Given the description of an element on the screen output the (x, y) to click on. 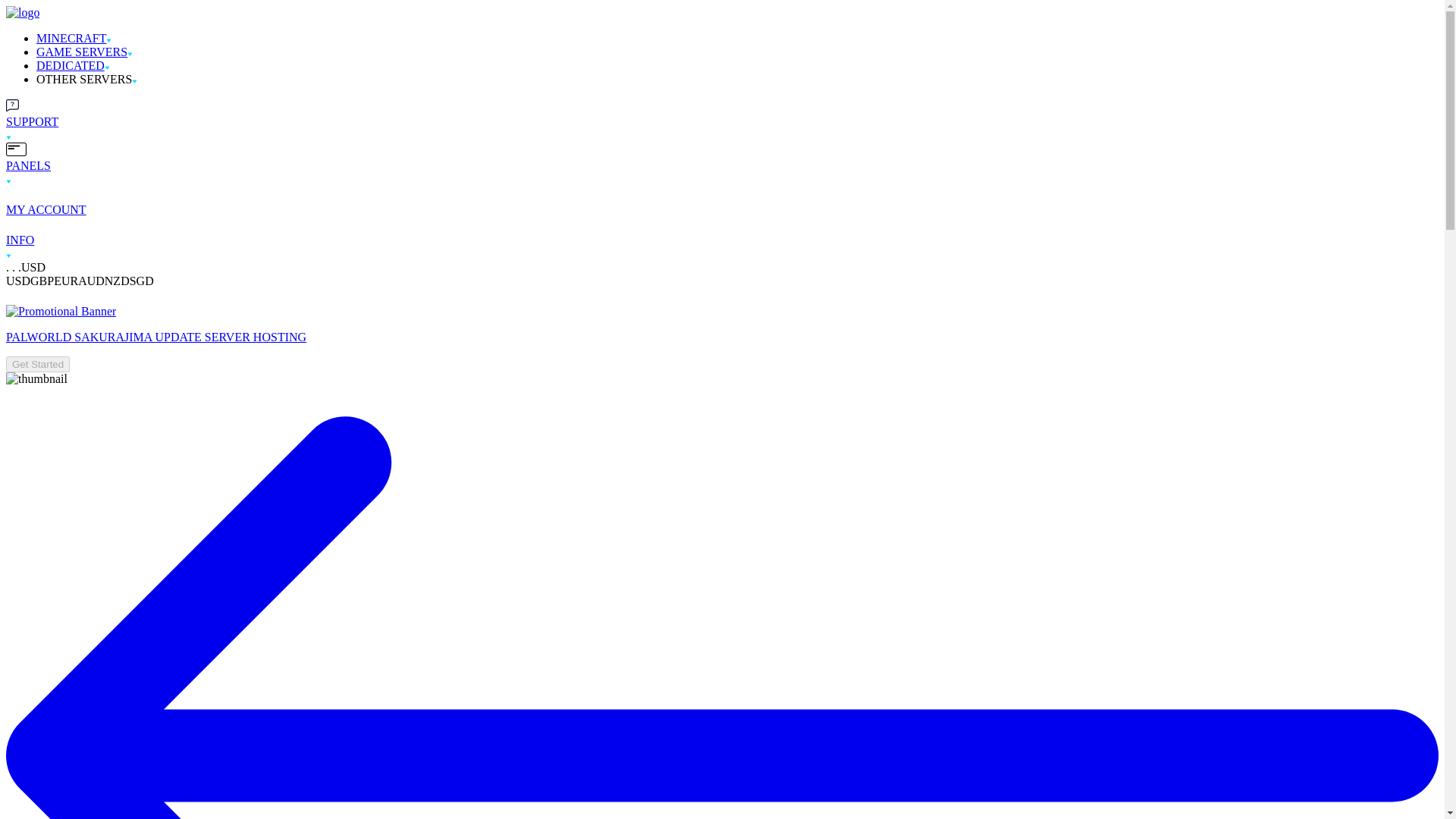
GAME SERVERS (82, 51)
DEDICATED (70, 65)
MINECRAFT (71, 38)
Get Started (37, 364)
